Given the description of an element on the screen output the (x, y) to click on. 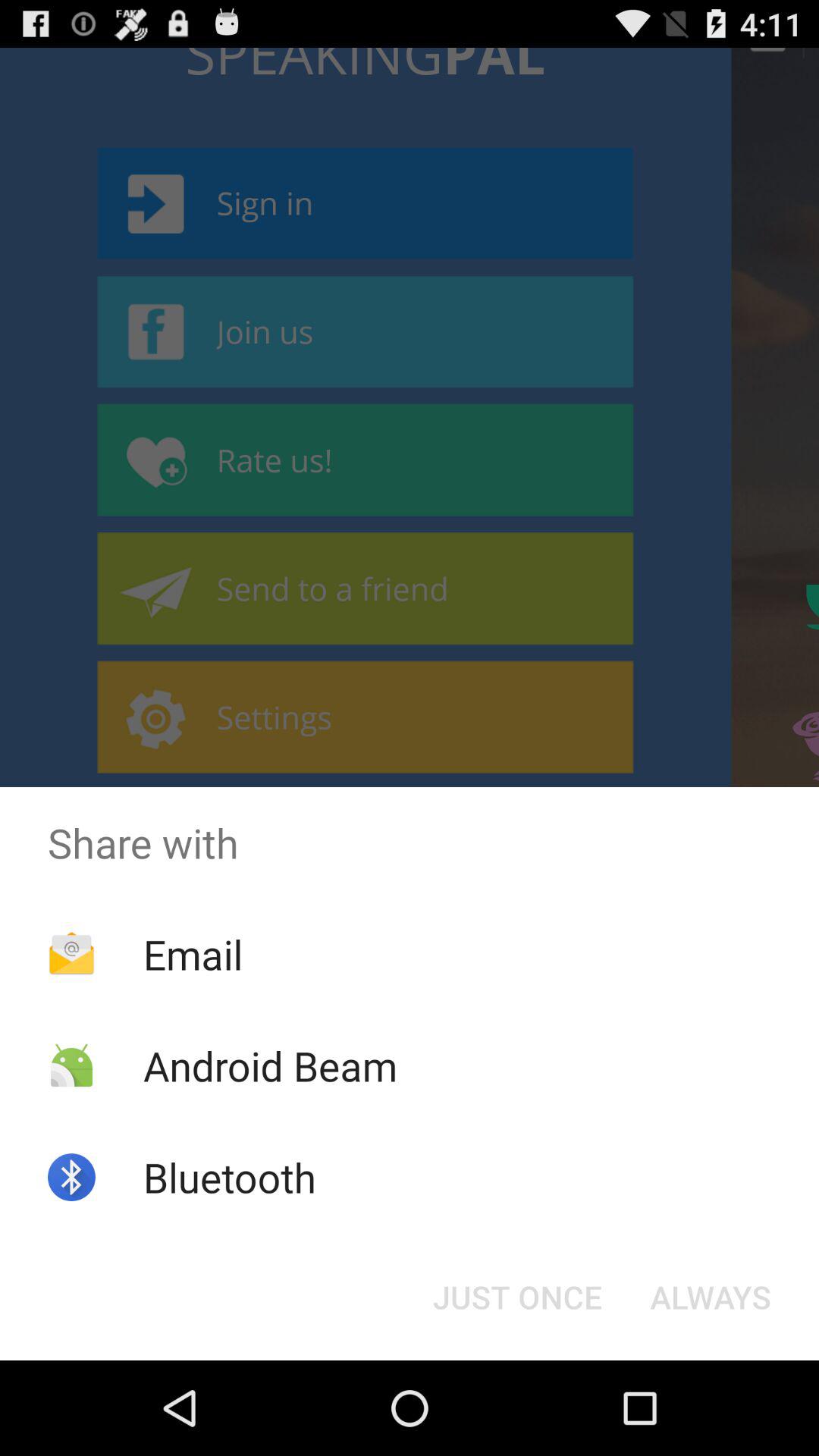
press the app below share with item (710, 1296)
